Given the description of an element on the screen output the (x, y) to click on. 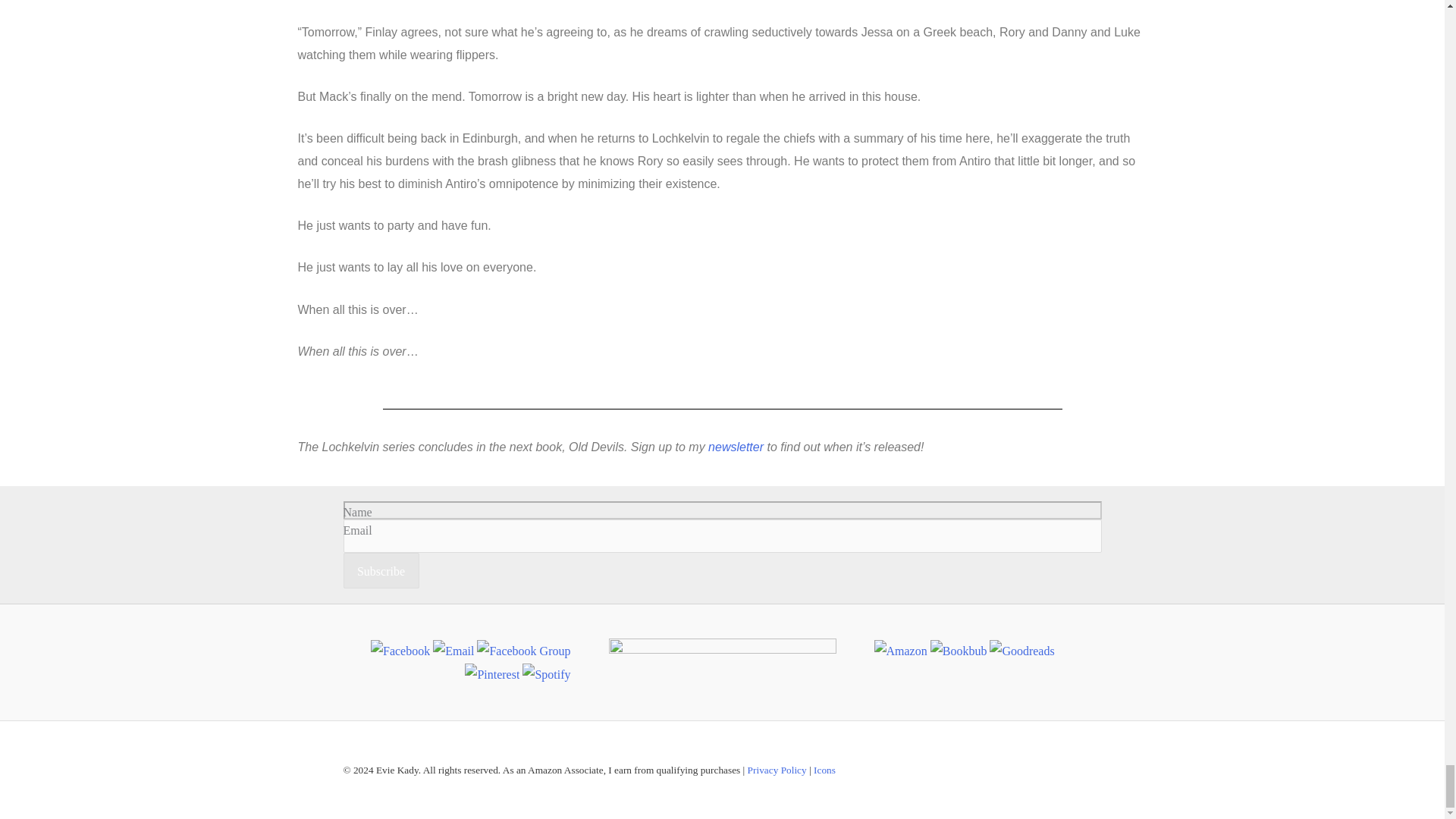
Subscribe (380, 570)
Facebook Group (523, 650)
newsletter (734, 446)
Goodreads (1022, 650)
Bookbub (958, 650)
Privacy Policy (777, 769)
Amazon (899, 650)
Spotify (546, 674)
Facebook (400, 650)
Pinterest (491, 674)
